Given the description of an element on the screen output the (x, y) to click on. 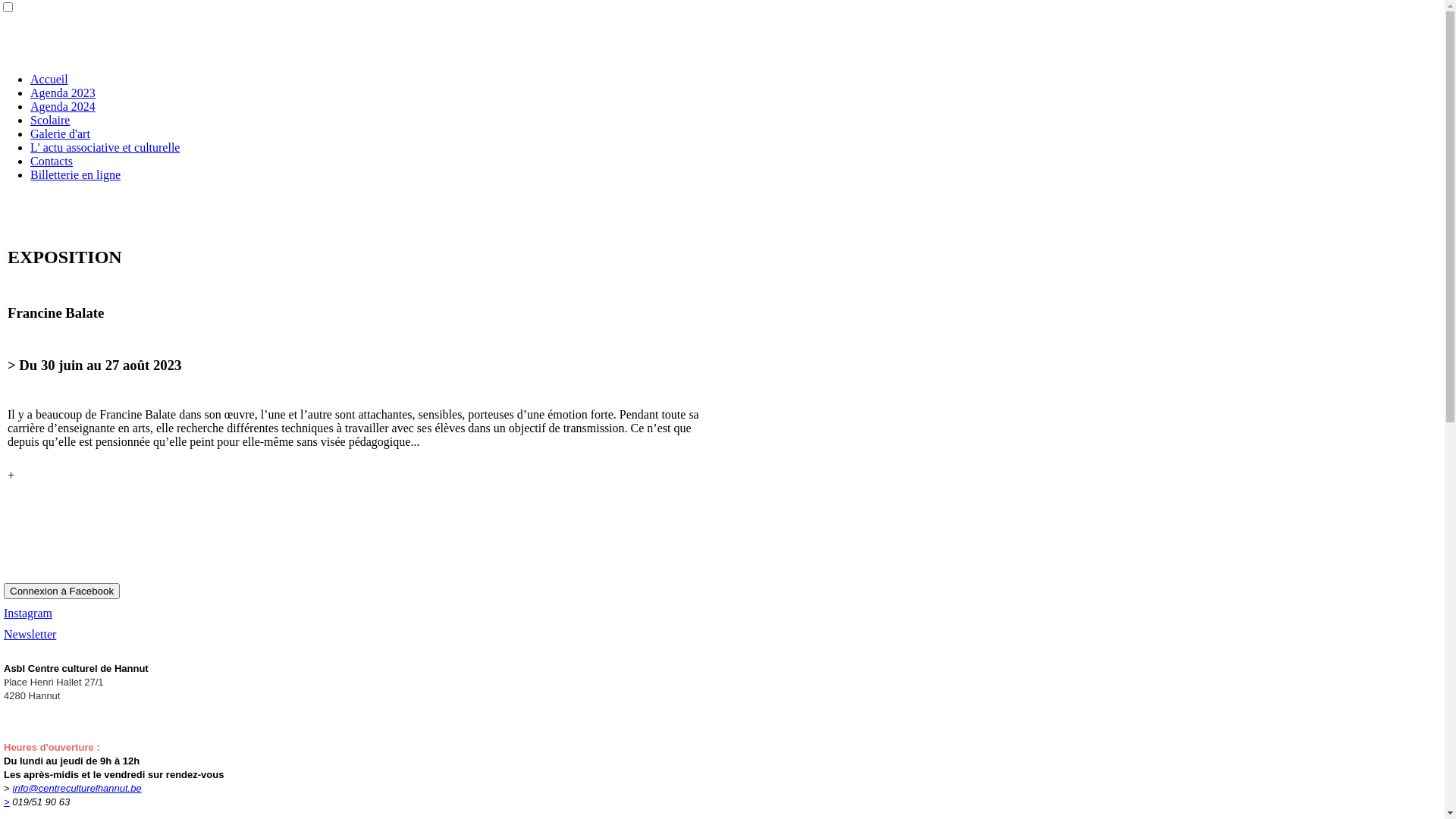
Agenda 2023 Element type: text (62, 92)
Scolaire Element type: text (49, 119)
Accueil Element type: text (49, 78)
Galerie d'art Element type: text (60, 133)
Agenda 2024 Element type: text (62, 106)
L' actu associative et culturelle Element type: text (104, 147)
Newsletter Element type: text (29, 633)
Instagram Element type: text (27, 612)
Contacts Element type: text (51, 160)
info@centreculturelhannut.be
> Element type: text (72, 794)
Billetterie en ligne Element type: text (75, 174)
+ Element type: text (10, 474)
